Given the description of an element on the screen output the (x, y) to click on. 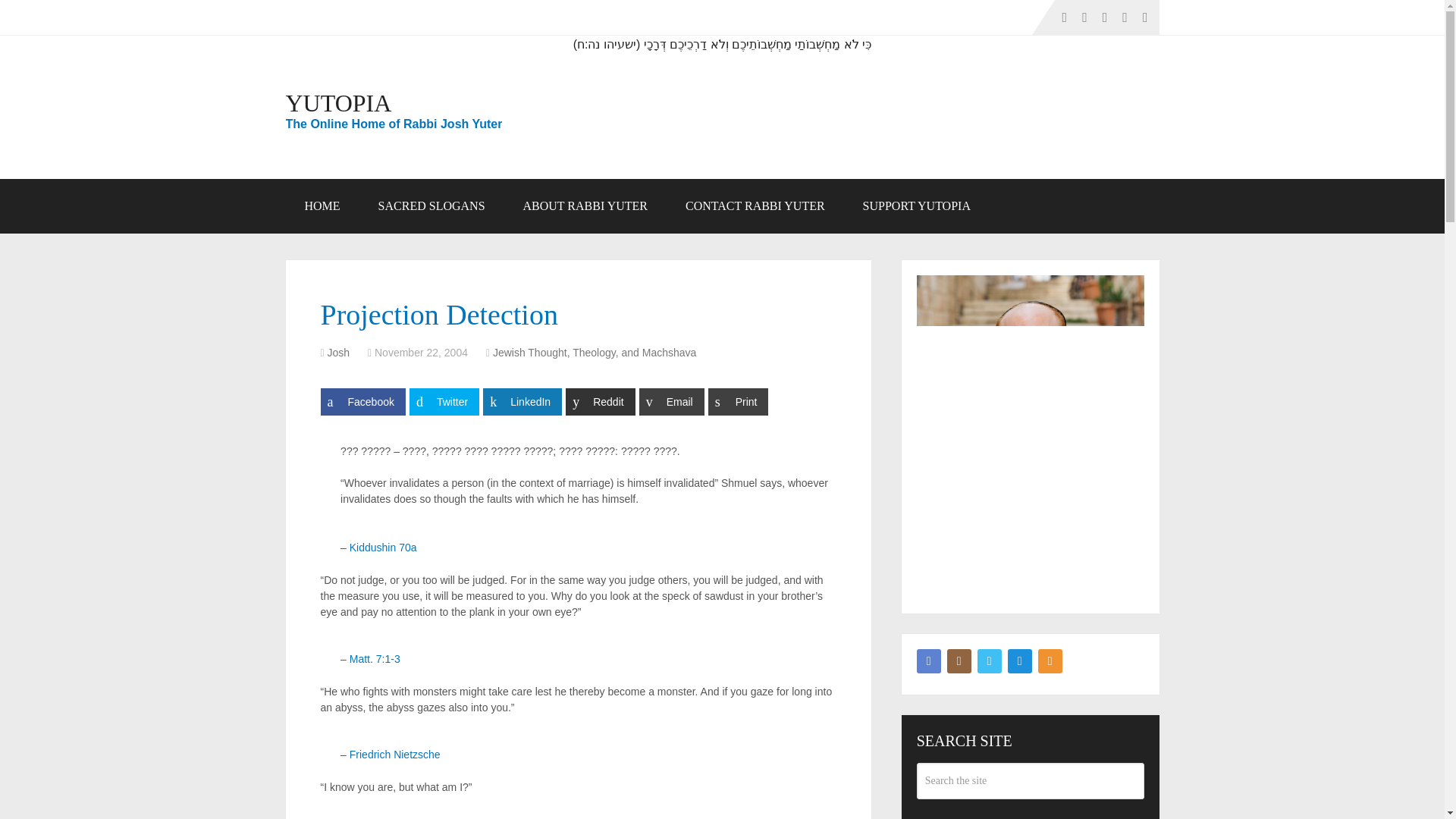
CONTACT RABBI YUTER (755, 206)
SACRED SLOGANS (431, 206)
Sacred Slogans (431, 206)
Posts by Josh (338, 352)
Share on Print (737, 401)
Share on Twitter (444, 401)
Share on Facebook (362, 401)
HOME (321, 206)
Reddit (600, 401)
SUPPORT YUTOPIA (917, 206)
